Given the description of an element on the screen output the (x, y) to click on. 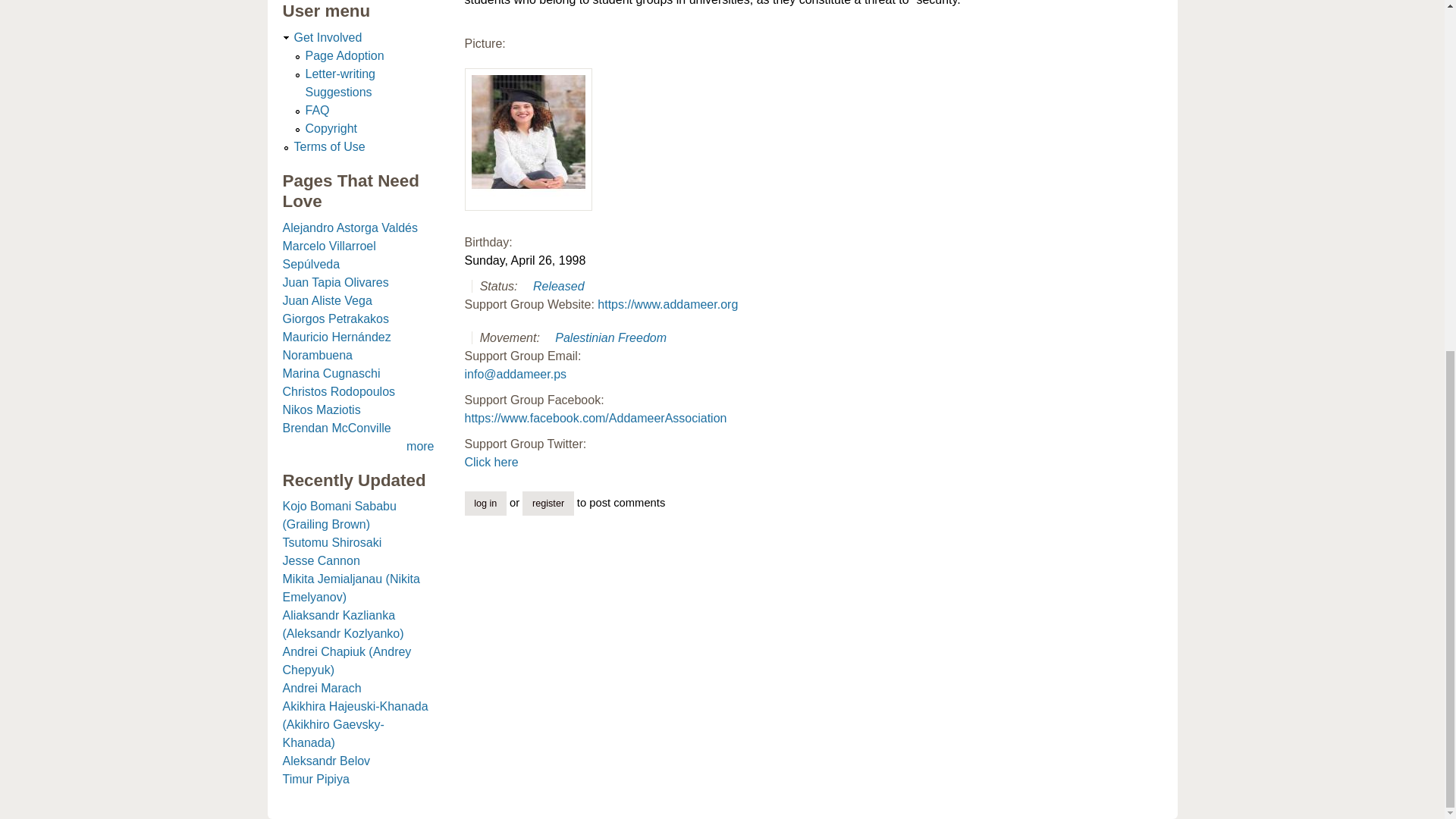
FAQ (316, 110)
Terms of Use (329, 146)
Copyright (330, 128)
Get Involved (328, 37)
Brendan McConville (336, 427)
register (547, 503)
Christos Rodopoulos (338, 391)
Giorgos Petrakakos (335, 318)
Nikos Maziotis (320, 409)
Released (558, 286)
